Given the description of an element on the screen output the (x, y) to click on. 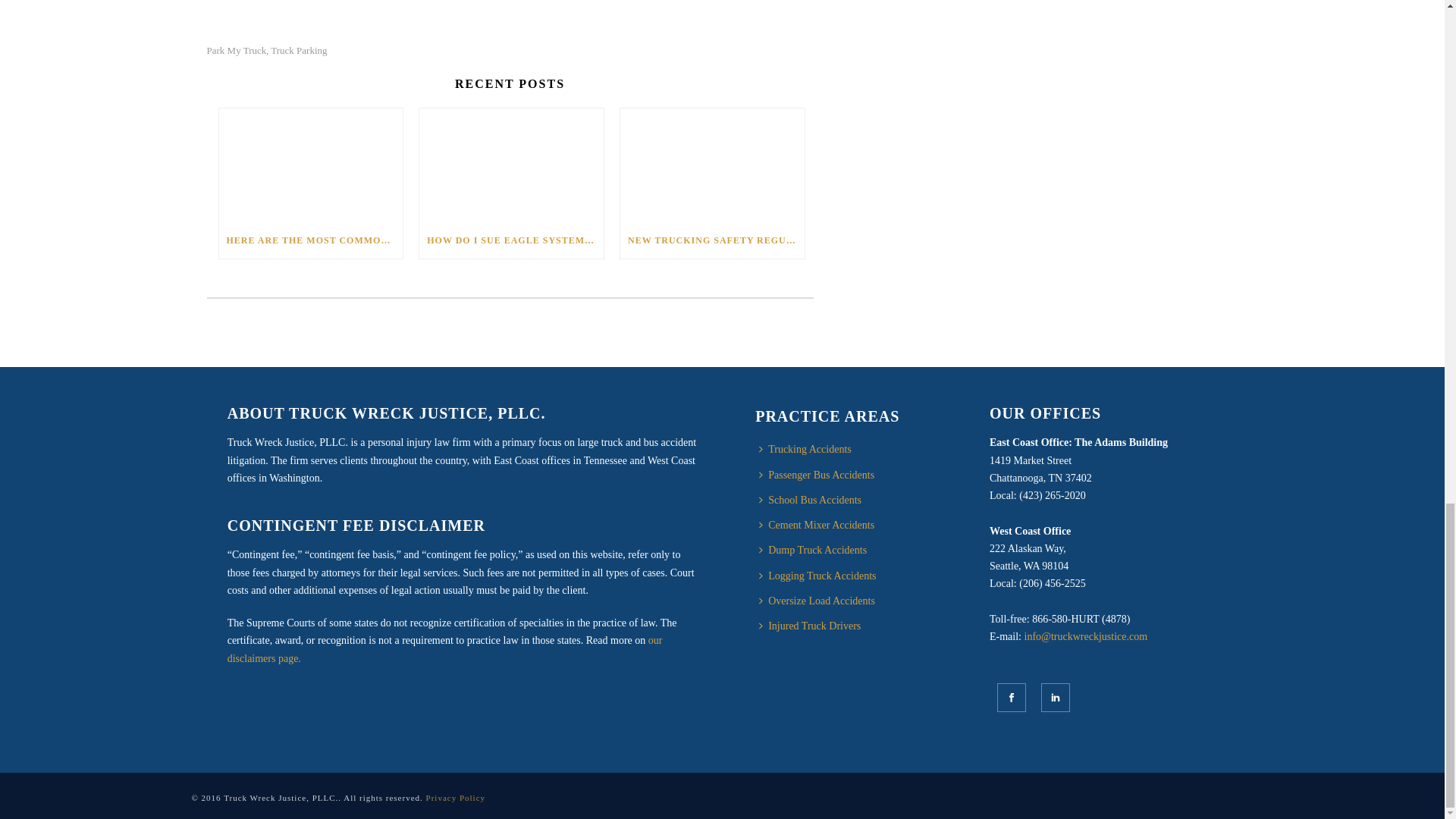
Follow Us on facebook (1011, 697)
Here Are the Most Common Drugs Used by Truck Drivers (310, 164)
Follow Us on linkedin (1055, 697)
How Do I Sue Eagle Systems Inc. After a Truck Wreck? (511, 164)
